Given the description of an element on the screen output the (x, y) to click on. 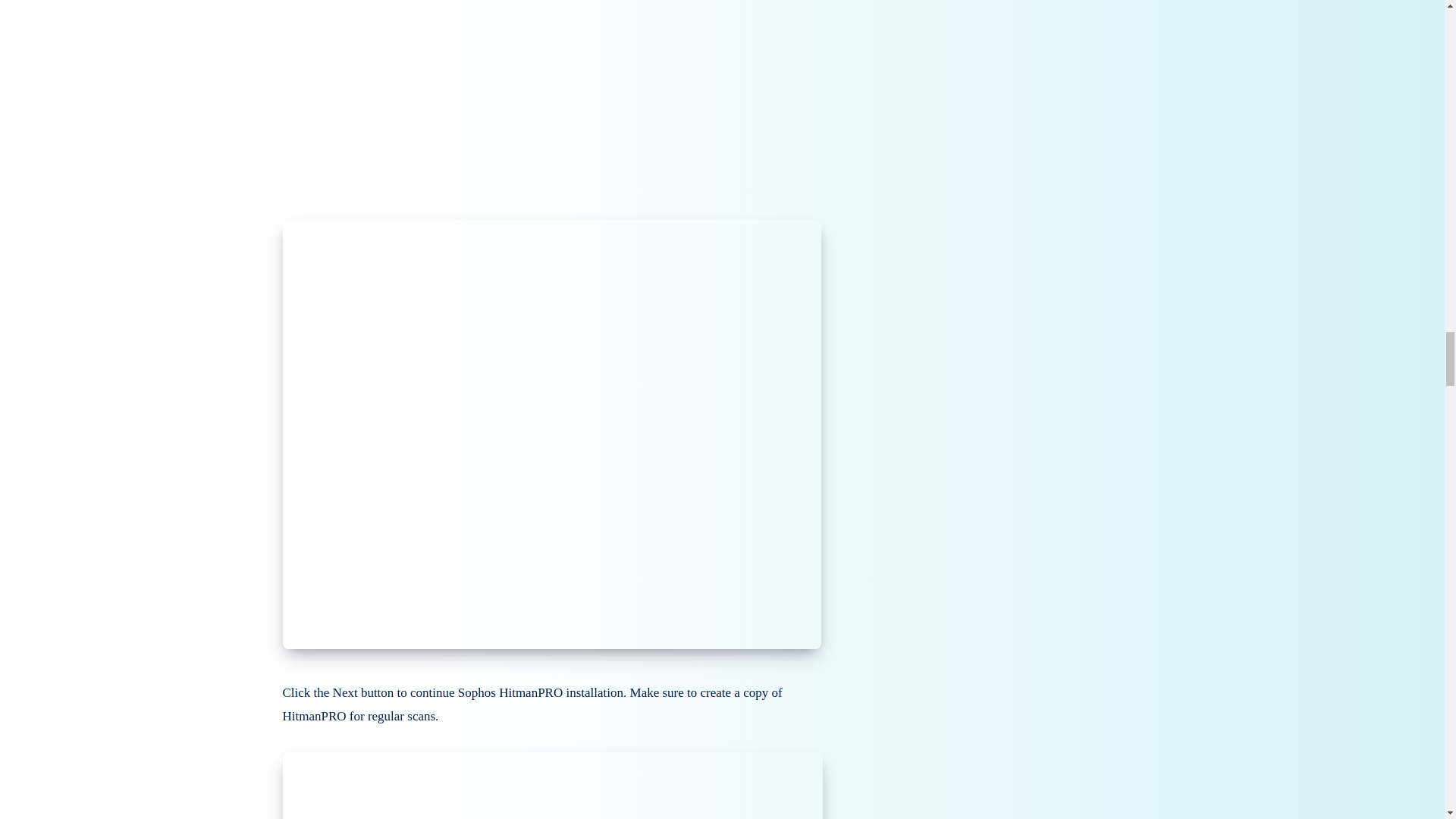
How to remove applebmdavlocalized.dll 30 (552, 785)
